Given the description of an element on the screen output the (x, y) to click on. 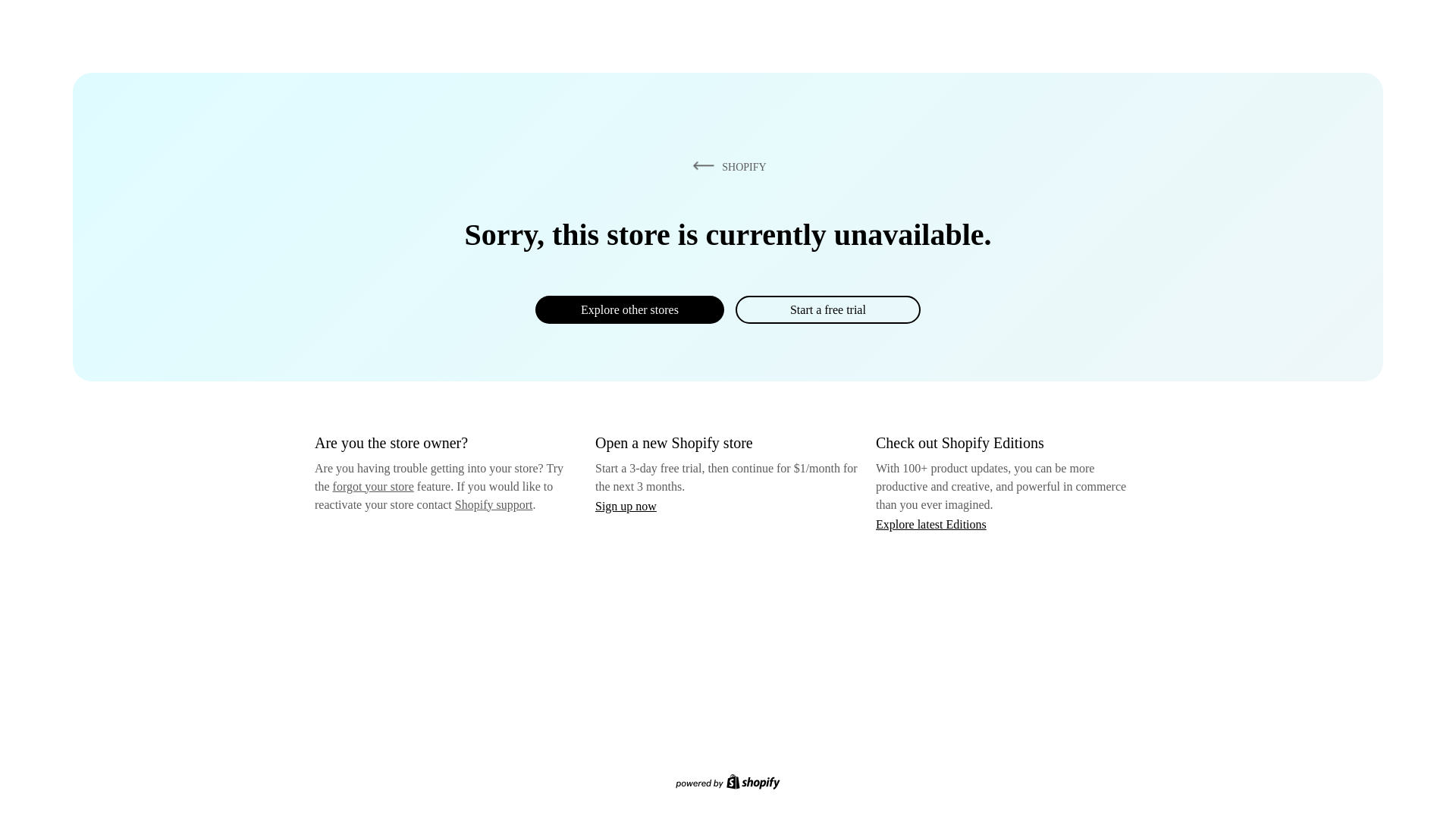
SHOPIFY (726, 166)
Shopify support (493, 504)
Explore other stores (629, 309)
Start a free trial (827, 309)
Explore latest Editions (931, 523)
Sign up now (625, 505)
forgot your store (373, 486)
